Given the description of an element on the screen output the (x, y) to click on. 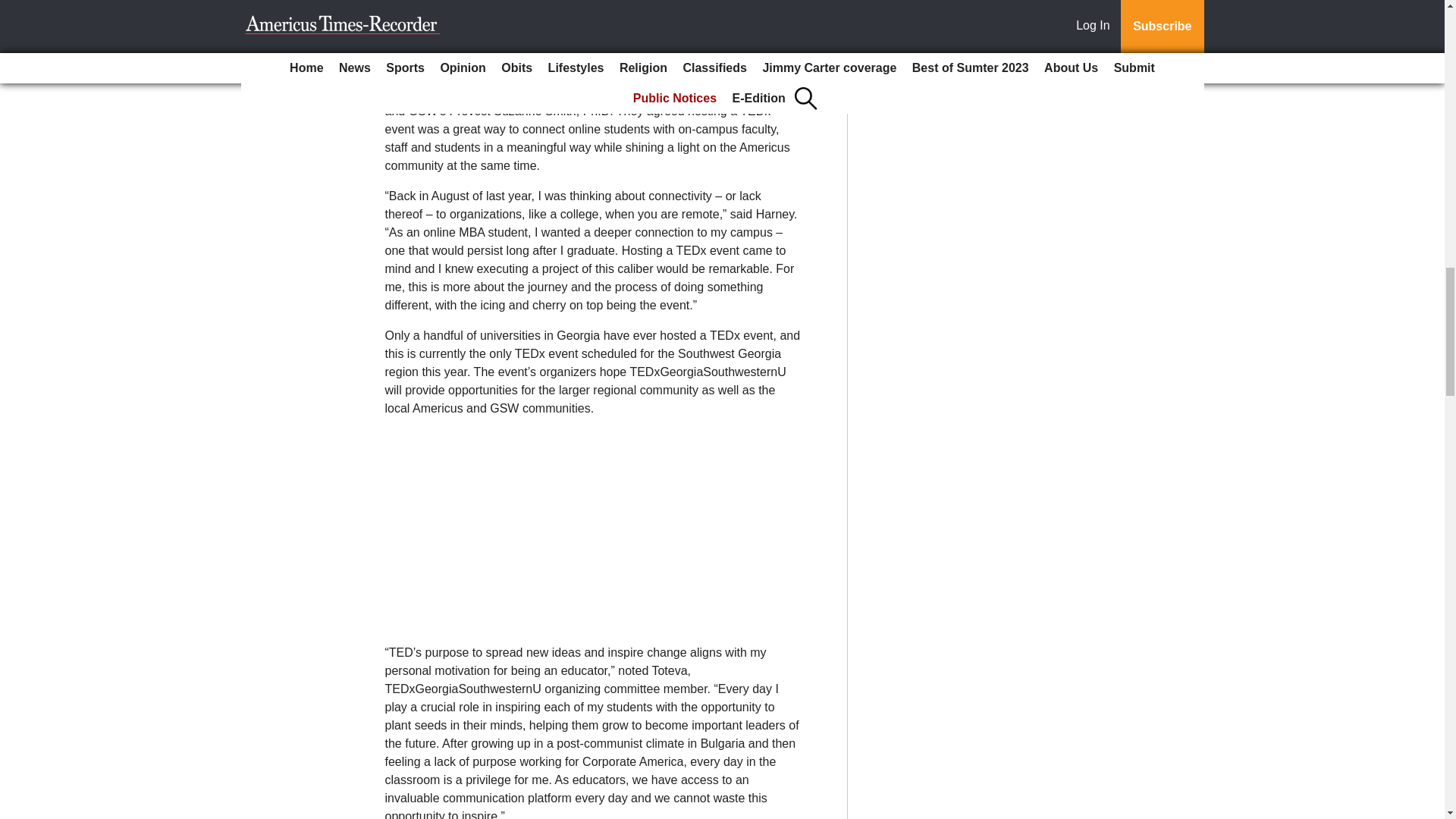
Subscribe (434, 7)
Subscribe (434, 7)
